Given the description of an element on the screen output the (x, y) to click on. 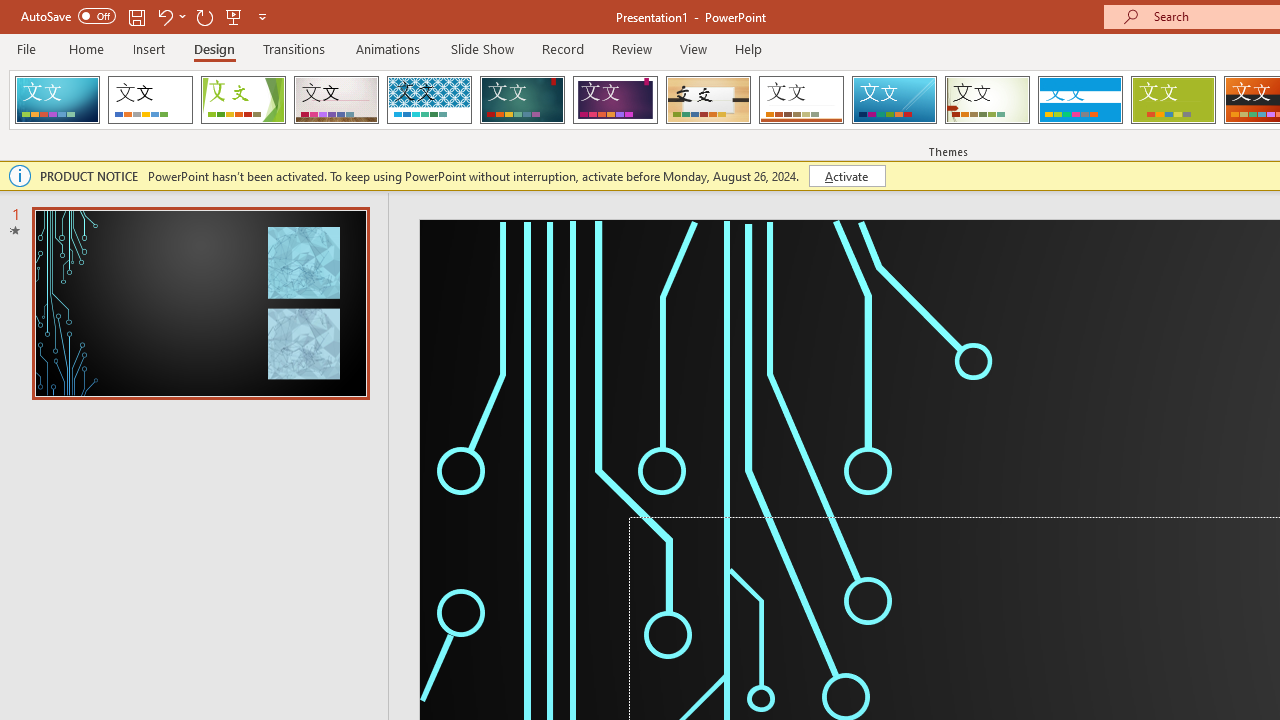
Slice (893, 100)
Ion (522, 100)
Office Theme (150, 100)
Integral (429, 100)
Retrospect (801, 100)
Activate (846, 175)
Banded (1080, 100)
Slide (200, 303)
